Given the description of an element on the screen output the (x, y) to click on. 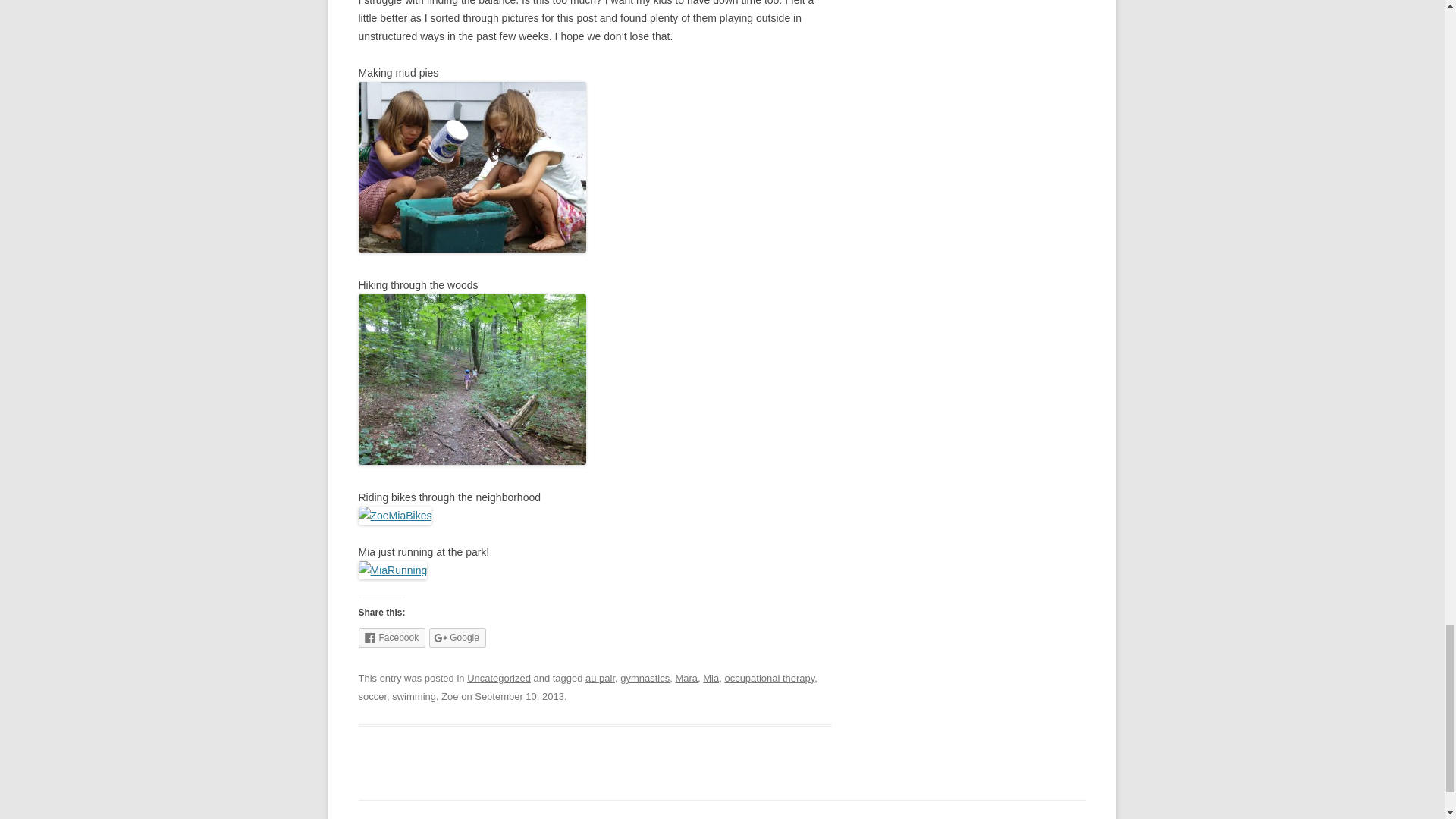
Mia (711, 677)
Uncategorized (499, 677)
gymnastics (644, 677)
swimming (413, 696)
Mara (686, 677)
au pair (599, 677)
soccer (372, 696)
Facebook (391, 637)
occupational therapy (768, 677)
Google (457, 637)
Click to share on Facebook (391, 637)
9:55 pm (519, 696)
September 10, 2013 (519, 696)
Zoe (449, 696)
